Given the description of an element on the screen output the (x, y) to click on. 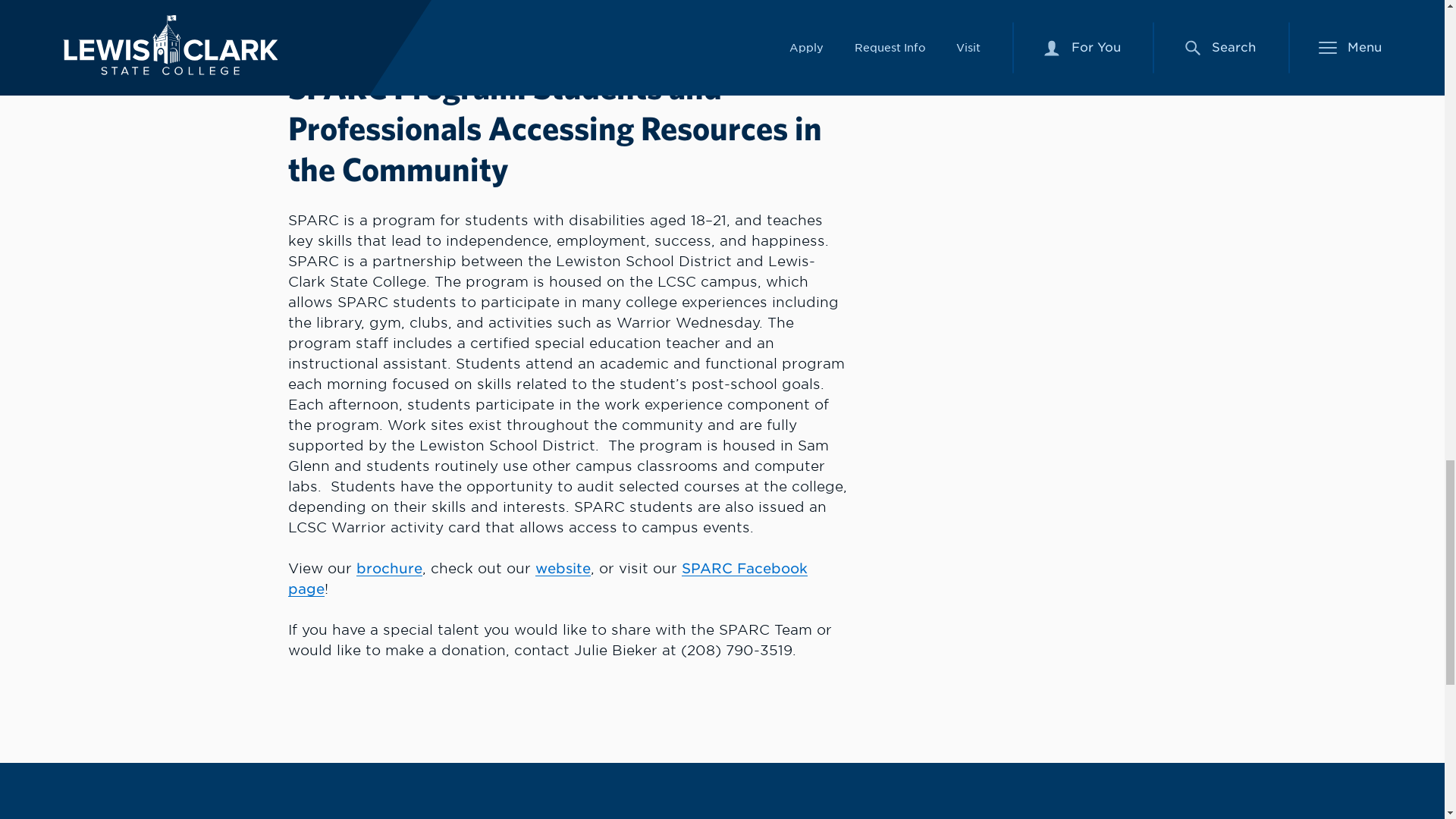
SPARC Brochure 2017 (389, 568)
